Given the description of an element on the screen output the (x, y) to click on. 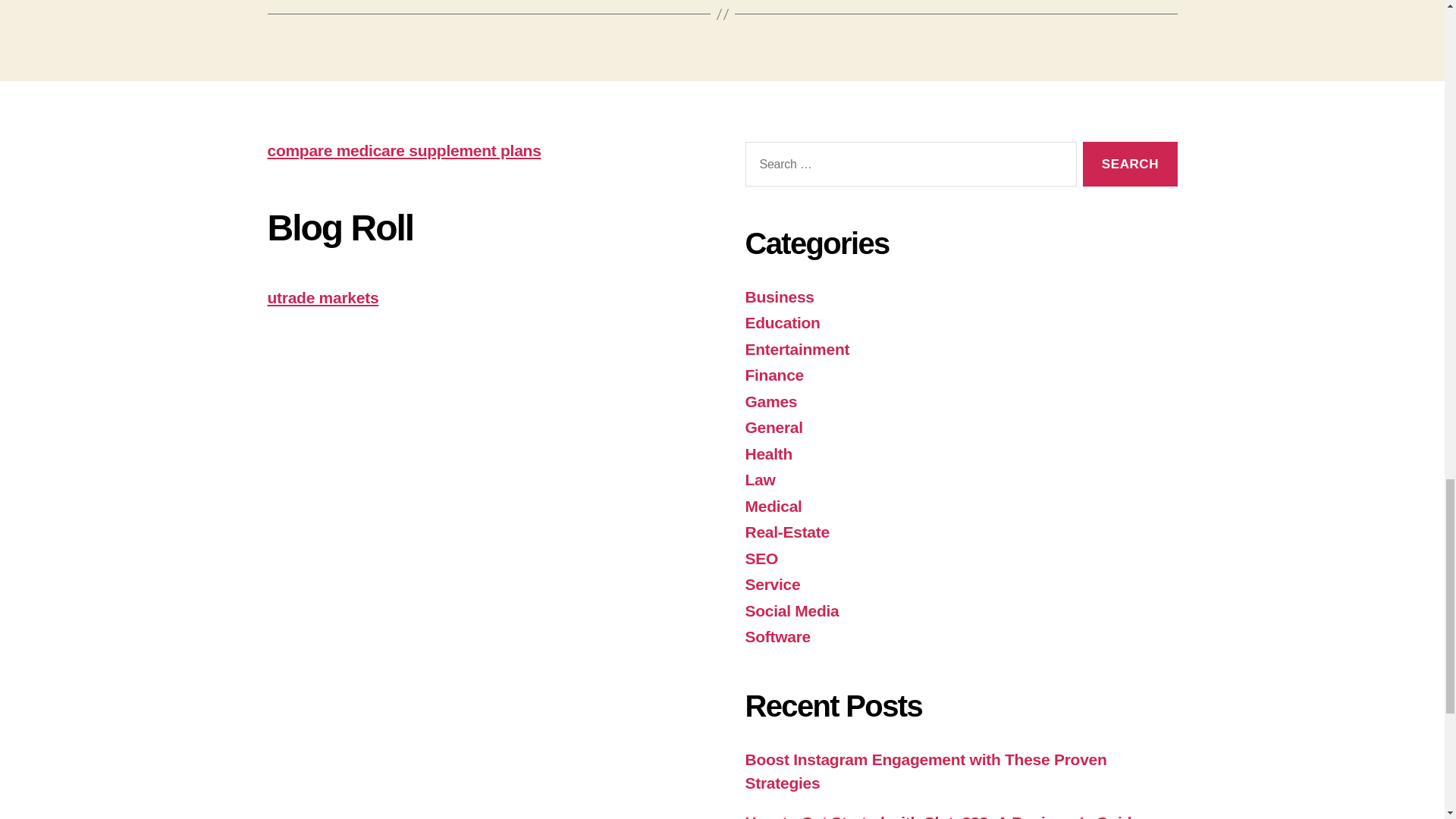
SEO (760, 558)
Search (1129, 163)
Software (777, 636)
Entertainment (796, 348)
Law (759, 479)
Search (1129, 163)
Service (771, 583)
Boost Instagram Engagement with These Proven Strategies (925, 771)
Games (770, 401)
Health (768, 453)
